Given the description of an element on the screen output the (x, y) to click on. 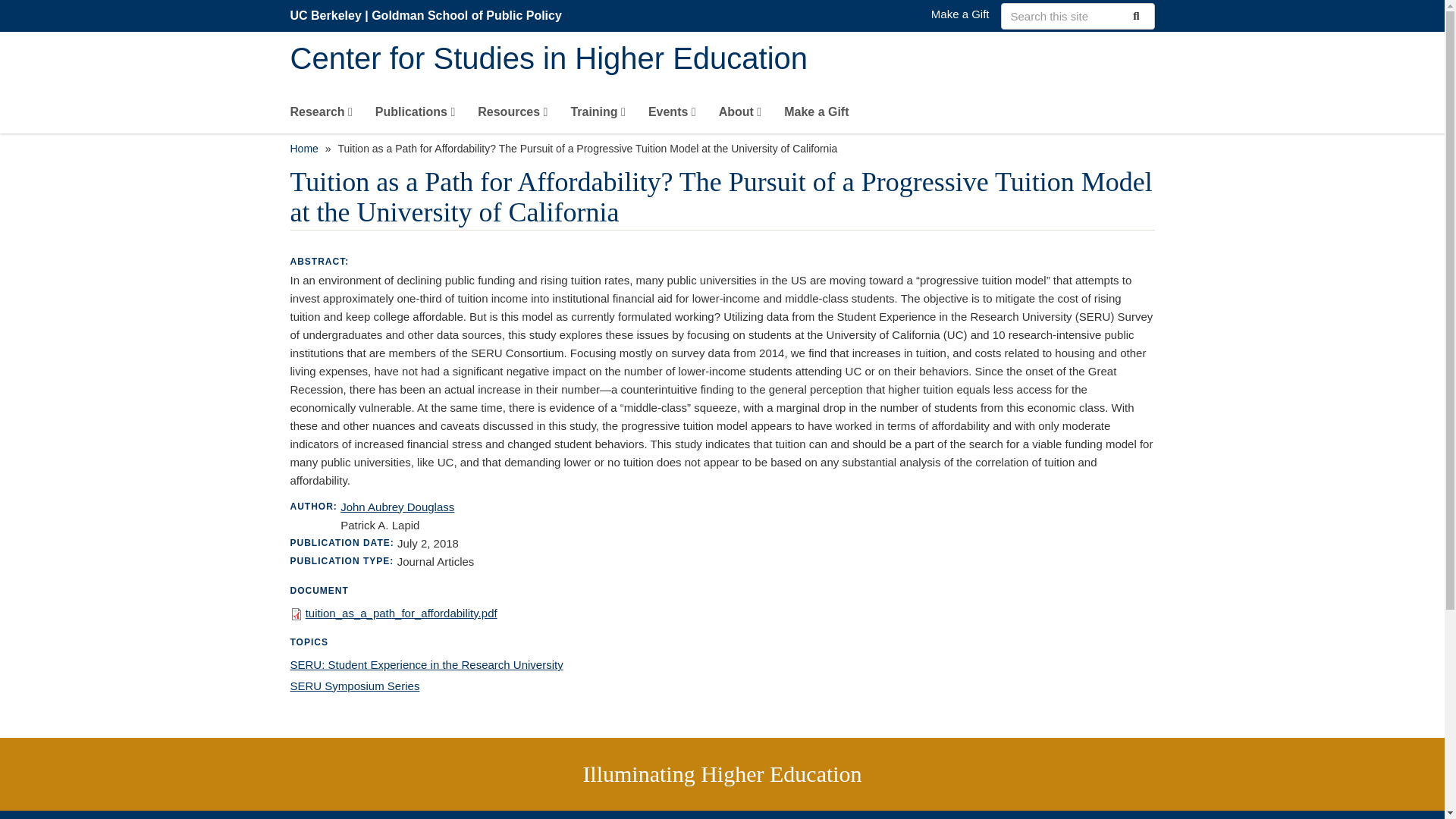
Center for Studies in Higher Education (721, 59)
Events (671, 115)
Submit Search (1133, 15)
Home (721, 59)
Make a Gift (960, 14)
About (740, 115)
John Aubrey Douglass (397, 506)
UC Berkeley (325, 15)
Home (303, 148)
Make a Gift (816, 115)
Training (354, 685)
About CSHE (598, 115)
